Given the description of an element on the screen output the (x, y) to click on. 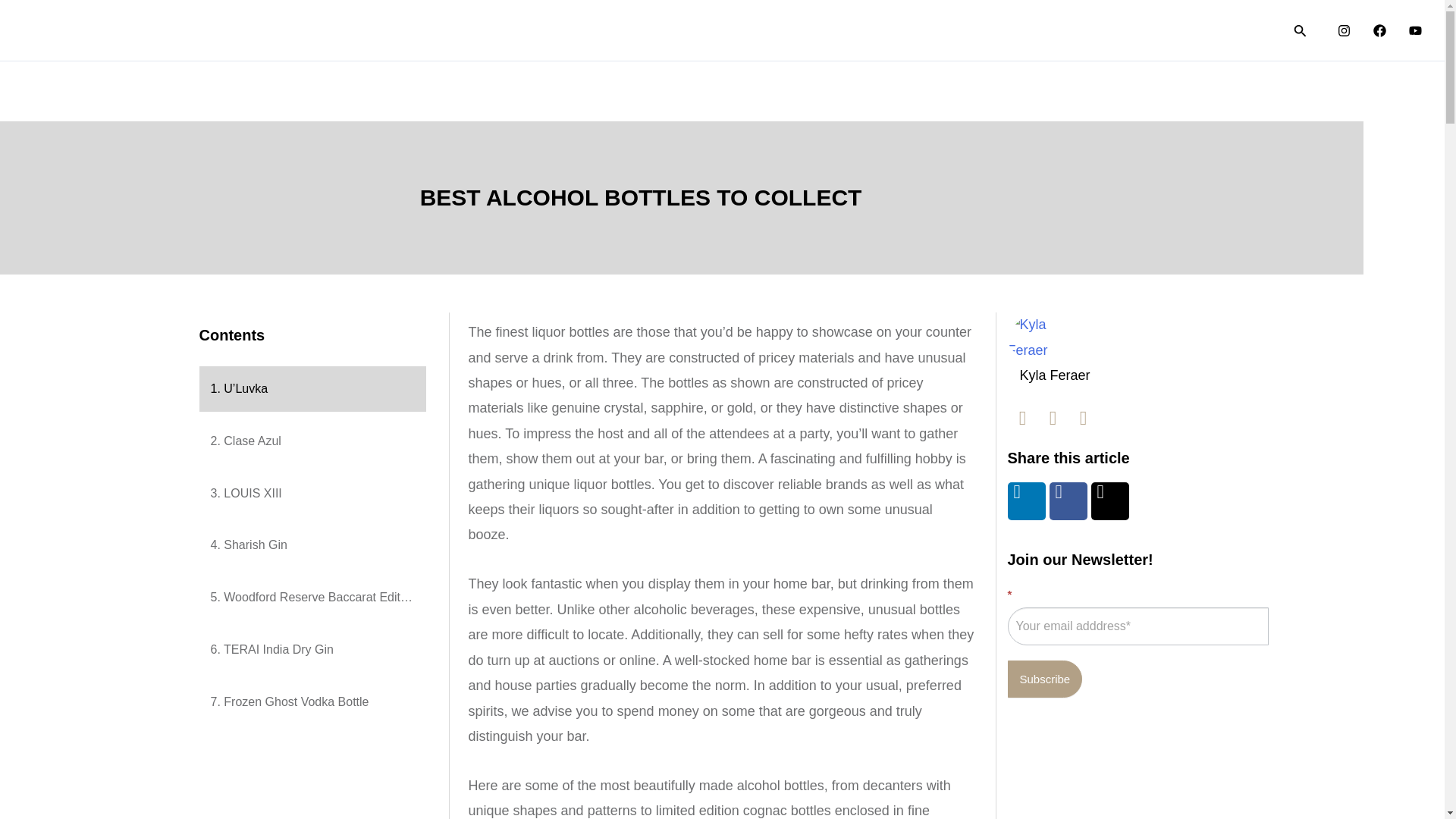
Sharish Gin (311, 545)
LOOK GOOD (887, 30)
FEEL GOOD (1103, 30)
Frozen Ghost Vodka Bottle (311, 701)
Search (1299, 30)
Clase Azul (311, 441)
LOUIS XIII (311, 493)
Woodford Reserve Baccarat Edition (311, 596)
NEWSLETTER (1212, 30)
TERAI India Dry Gin (311, 649)
SMELL GOOD (996, 30)
TRENDING (786, 30)
